Given the description of an element on the screen output the (x, y) to click on. 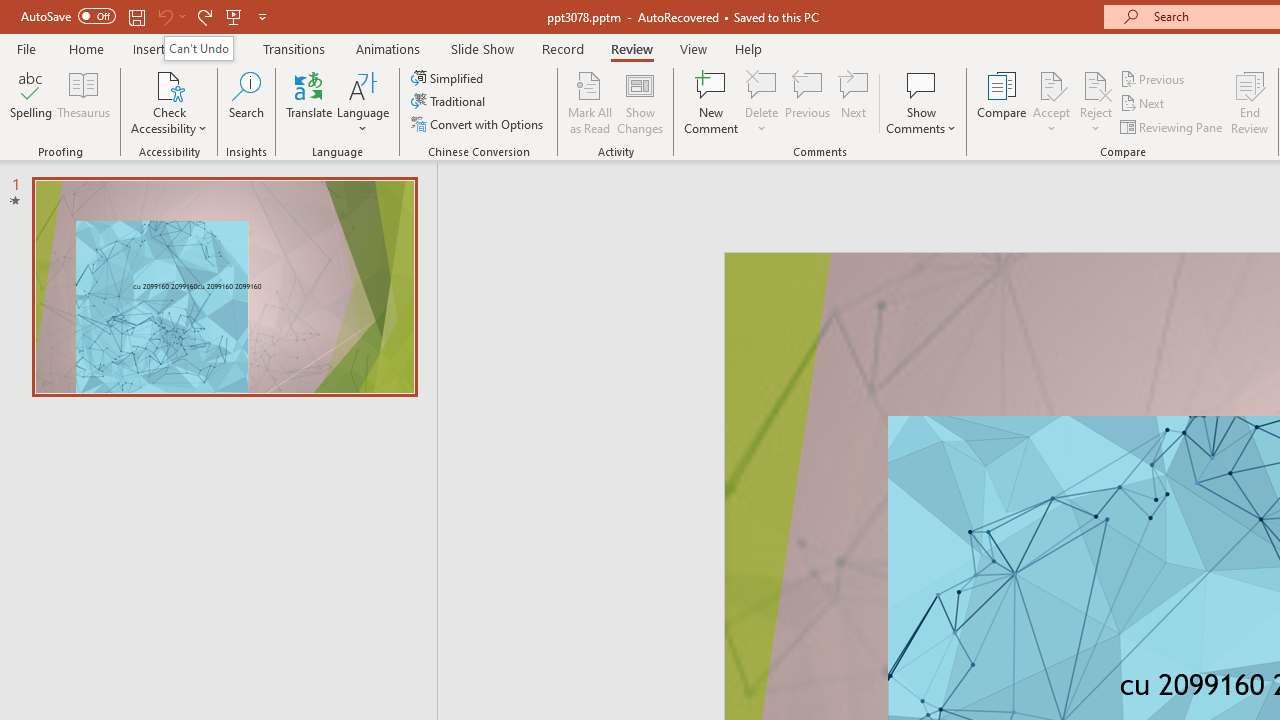
Previous (1153, 78)
Reviewing Pane (1172, 126)
Thesaurus... (83, 102)
Simplified (449, 78)
Reject (1096, 102)
Next (1144, 103)
